Given the description of an element on the screen output the (x, y) to click on. 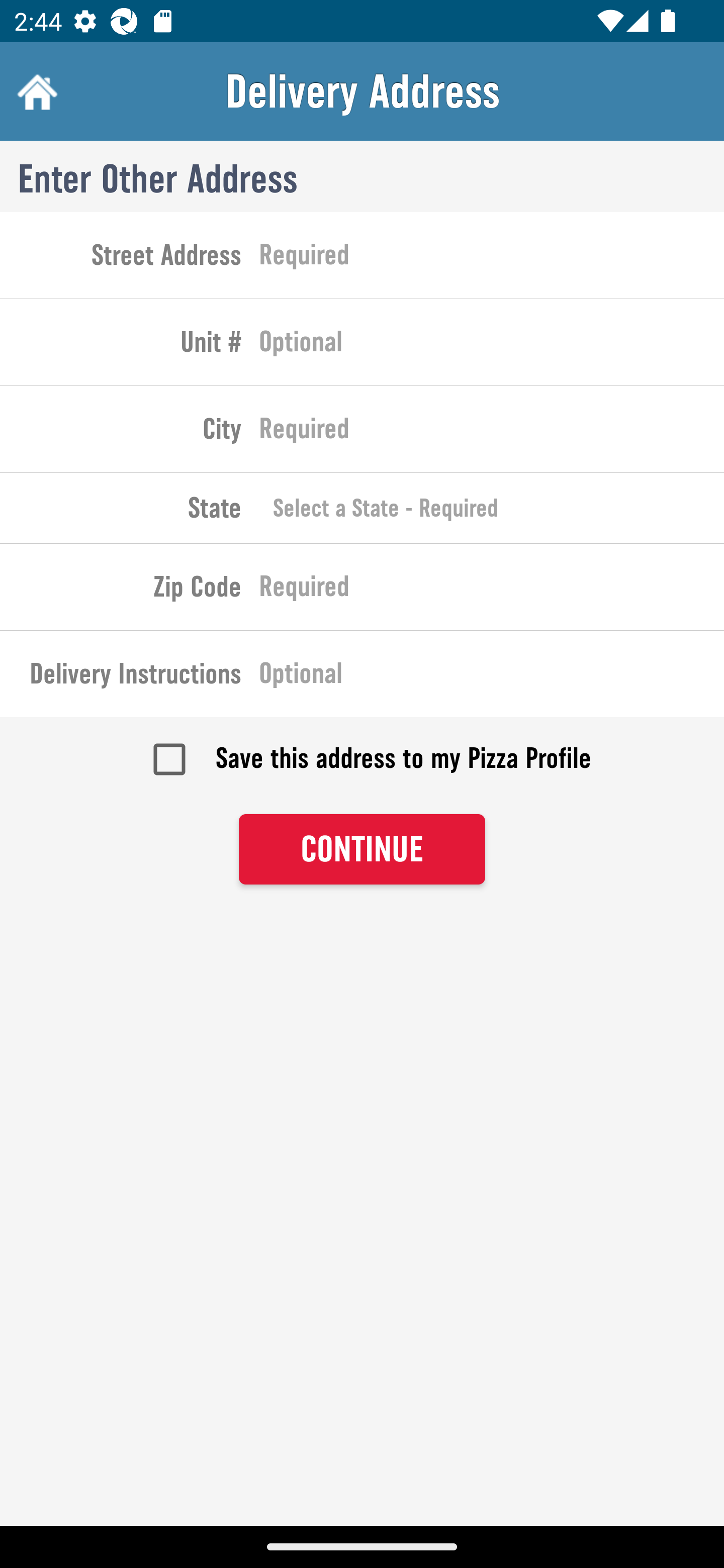
Home (35, 91)
Required (491, 258)
Optional (491, 345)
Required (491, 432)
Select a State - Required (491, 507)
Required (491, 590)
Optional (491, 677)
CONTINUE (361, 848)
